Given the description of an element on the screen output the (x, y) to click on. 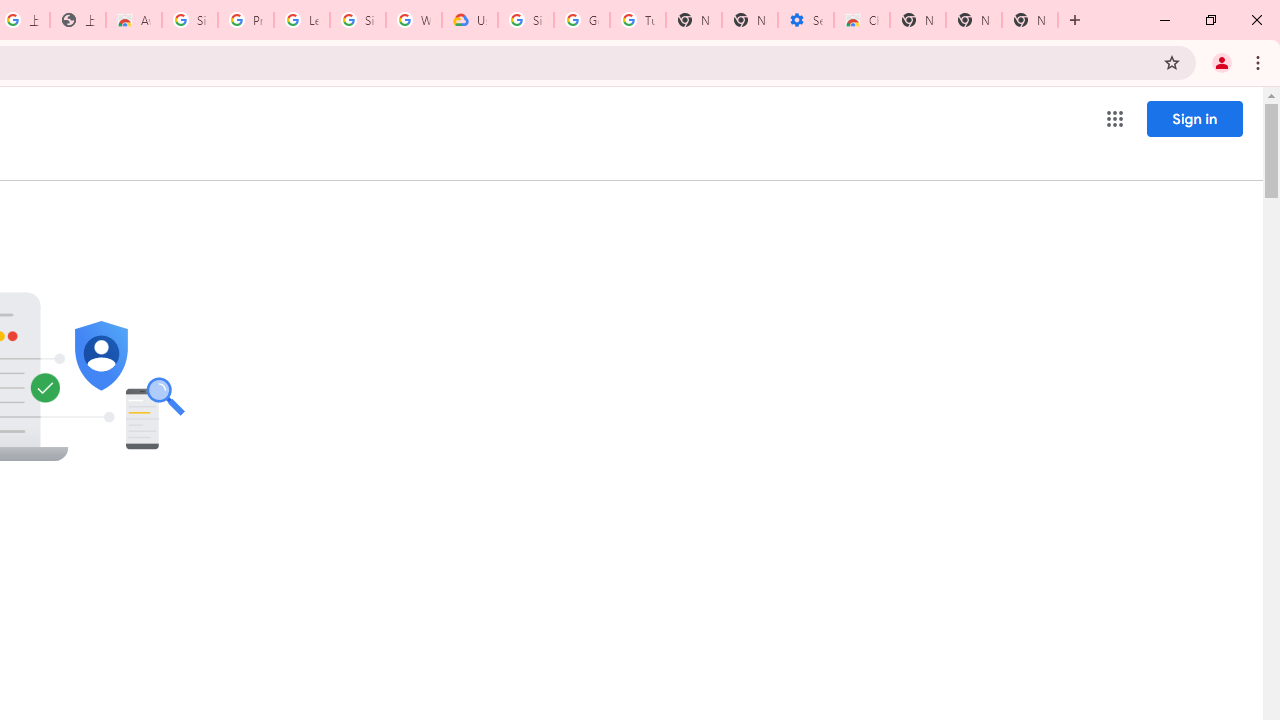
Chrome Web Store - Accessibility extensions (861, 20)
Sign in - Google Accounts (189, 20)
New Tab (1030, 20)
New Tab (917, 20)
Awesome Screen Recorder & Screenshot - Chrome Web Store (134, 20)
Who are Google's partners? - Privacy and conditions - Google (413, 20)
Sign in - Google Accounts (525, 20)
